Given the description of an element on the screen output the (x, y) to click on. 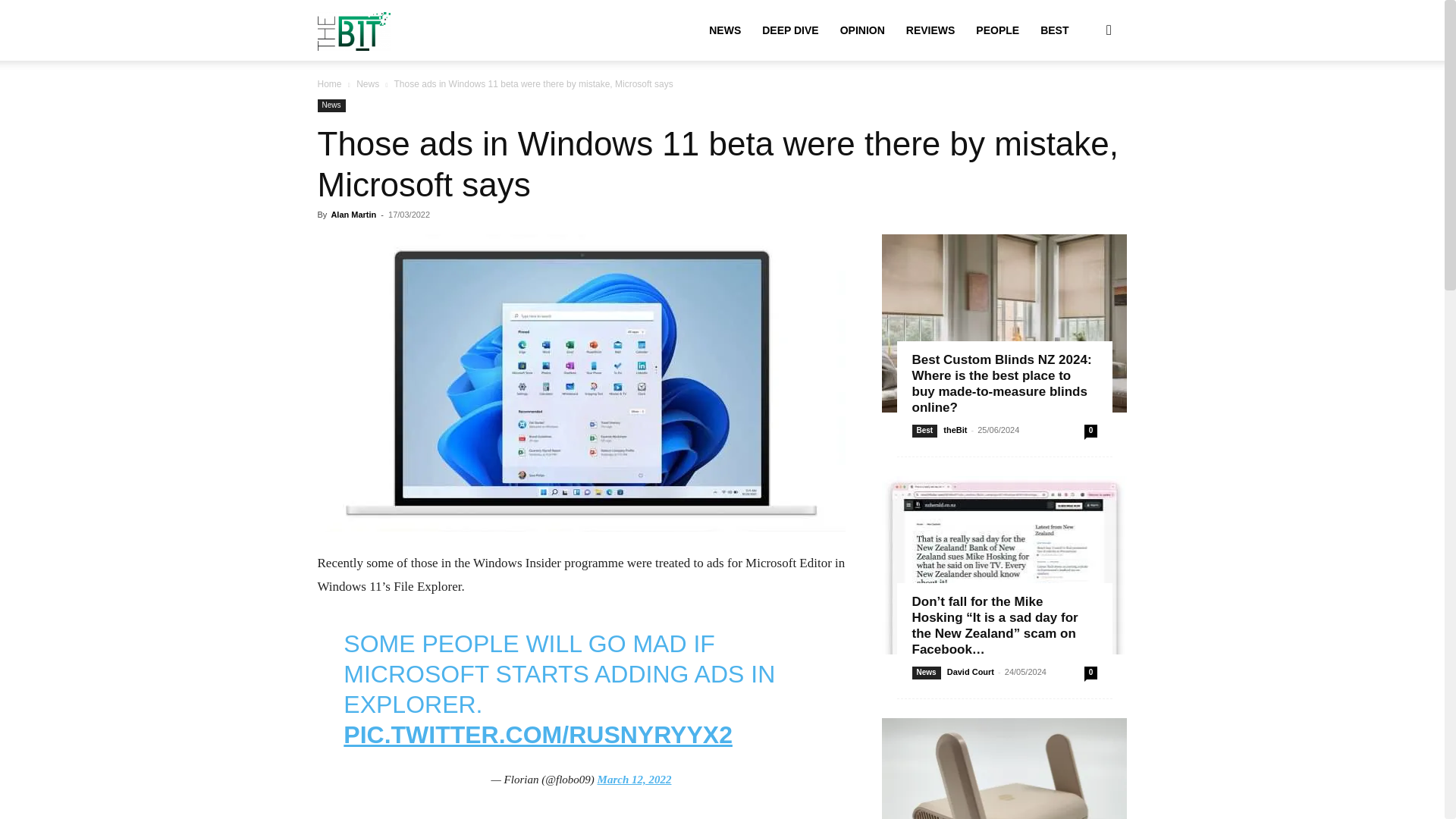
REVIEWS (930, 30)
News (331, 105)
OPINION (862, 30)
Home (328, 83)
View all posts in News (367, 83)
Alan Martin (352, 214)
PEOPLE (997, 30)
Search (1085, 102)
News (367, 83)
March 12, 2022 (633, 779)
